Given the description of an element on the screen output the (x, y) to click on. 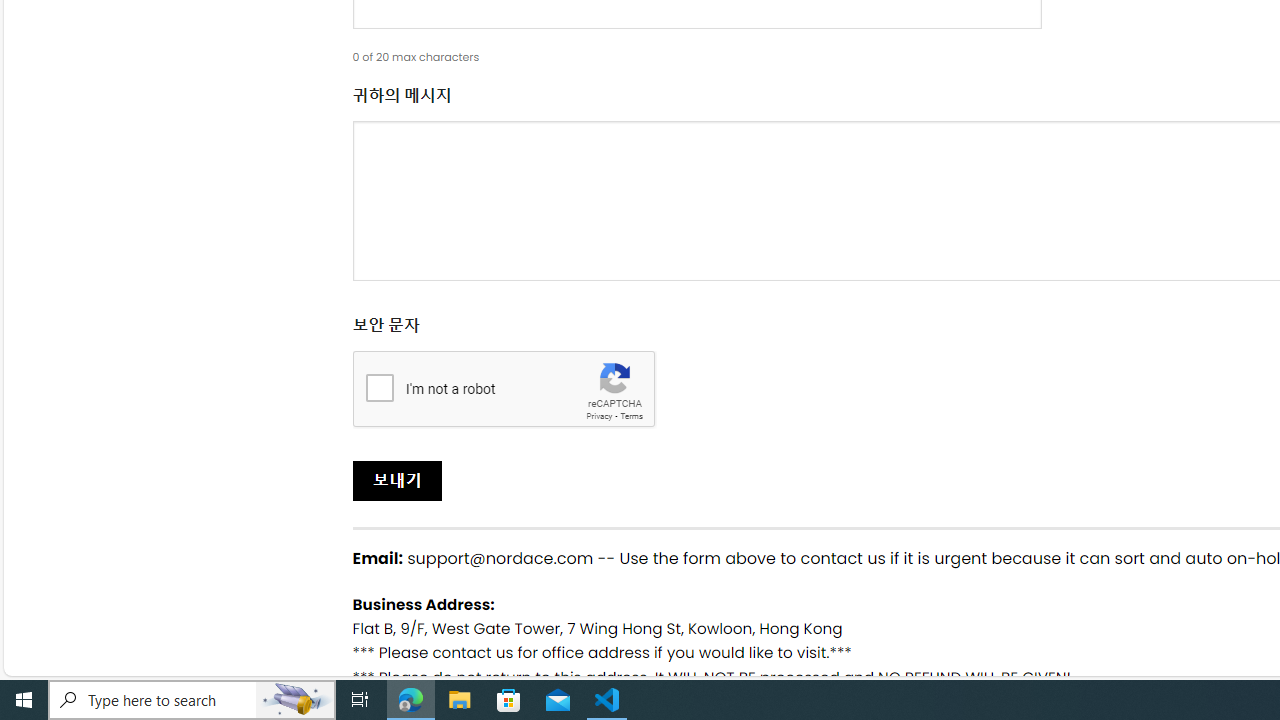
Terms (631, 416)
I'm not a robot (379, 386)
